Given the description of an element on the screen output the (x, y) to click on. 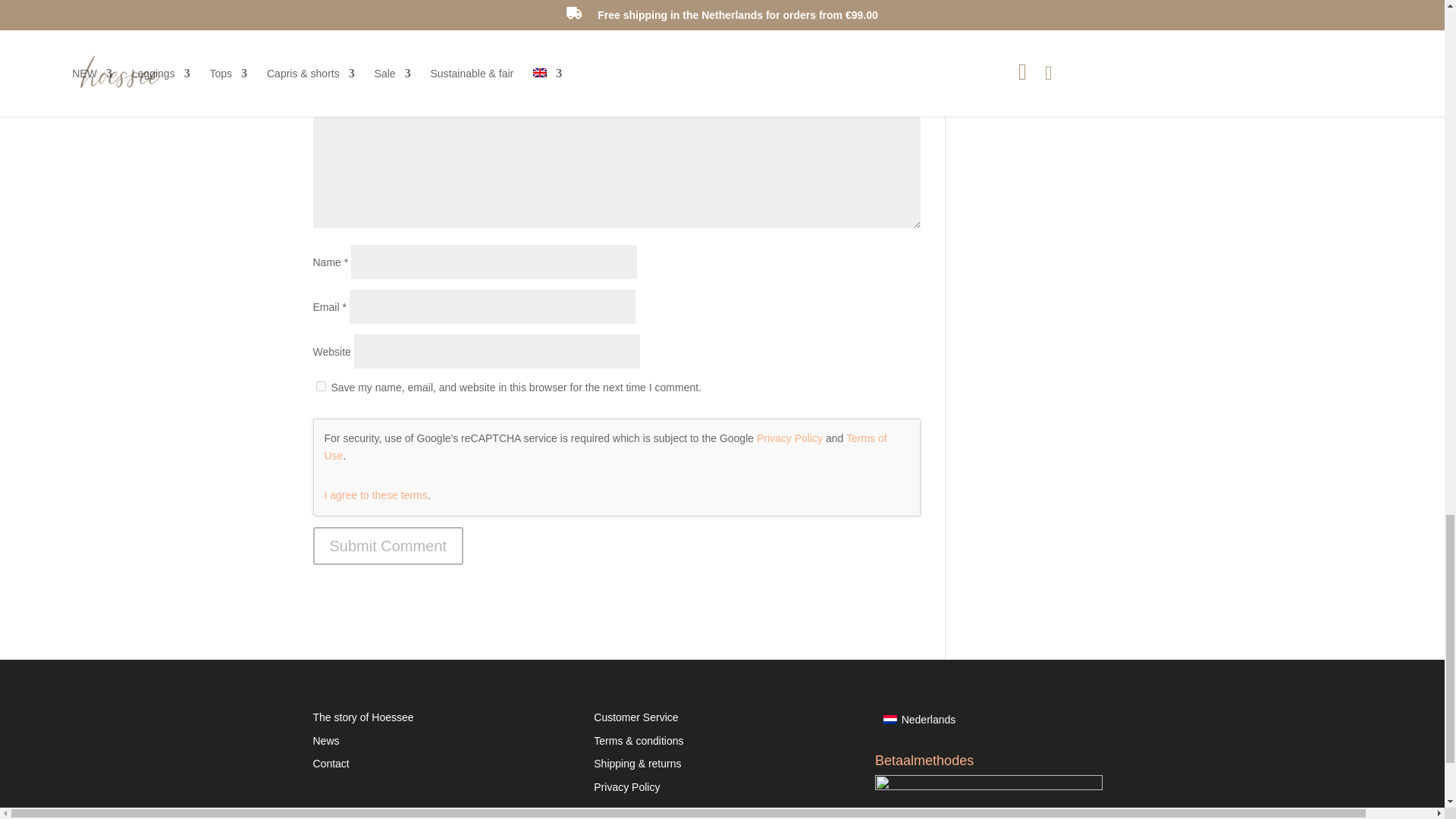
Betaalmethodes (988, 796)
Privacy Policy (789, 438)
yes (319, 386)
Submit Comment (388, 546)
Terms of Use (605, 447)
I agree to these terms (376, 494)
